Given the description of an element on the screen output the (x, y) to click on. 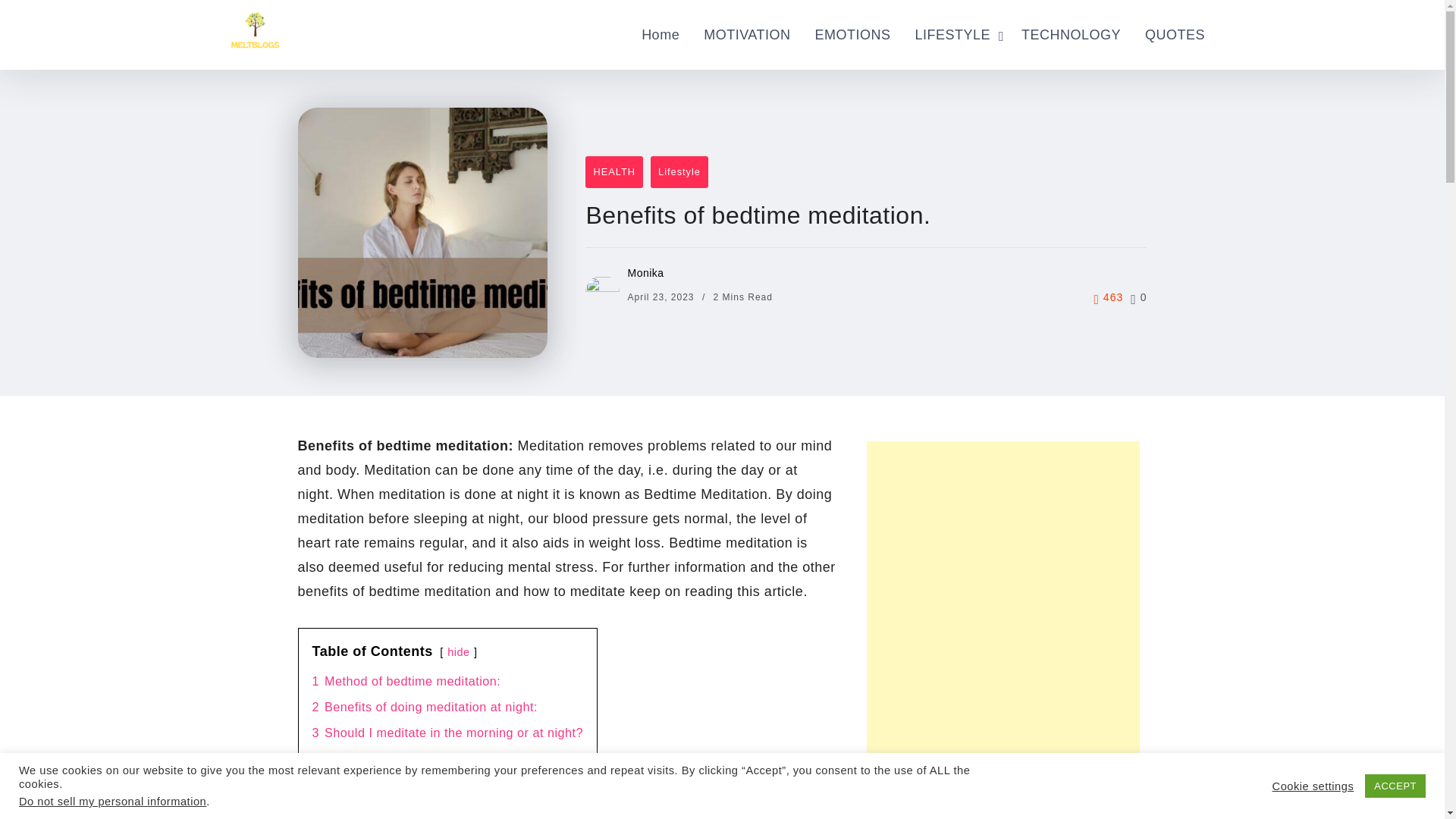
Home (659, 34)
EMOTIONS (852, 34)
HEALTH (614, 172)
MELTBLOGS (253, 27)
hide (457, 652)
Lifestyle (678, 172)
Lifestyle (678, 172)
TECHNOLOGY (1070, 34)
3 Should I meditate in the morning or at night? (448, 732)
QUOTES (1174, 34)
